Given the description of an element on the screen output the (x, y) to click on. 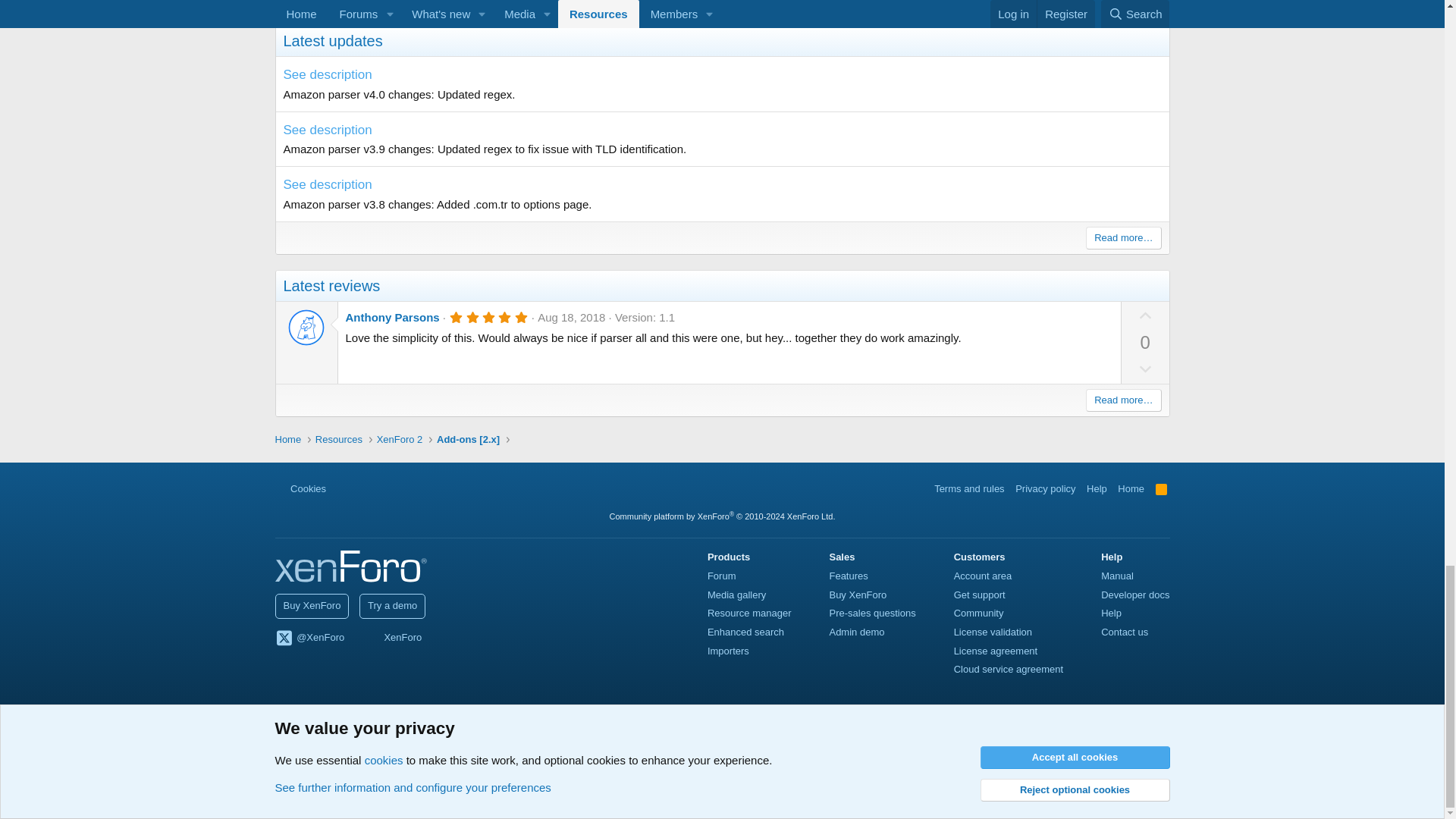
Aug 18, 2018 at 1:48 AM (571, 317)
RSS (1161, 488)
Style variation (342, 488)
